Given the description of an element on the screen output the (x, y) to click on. 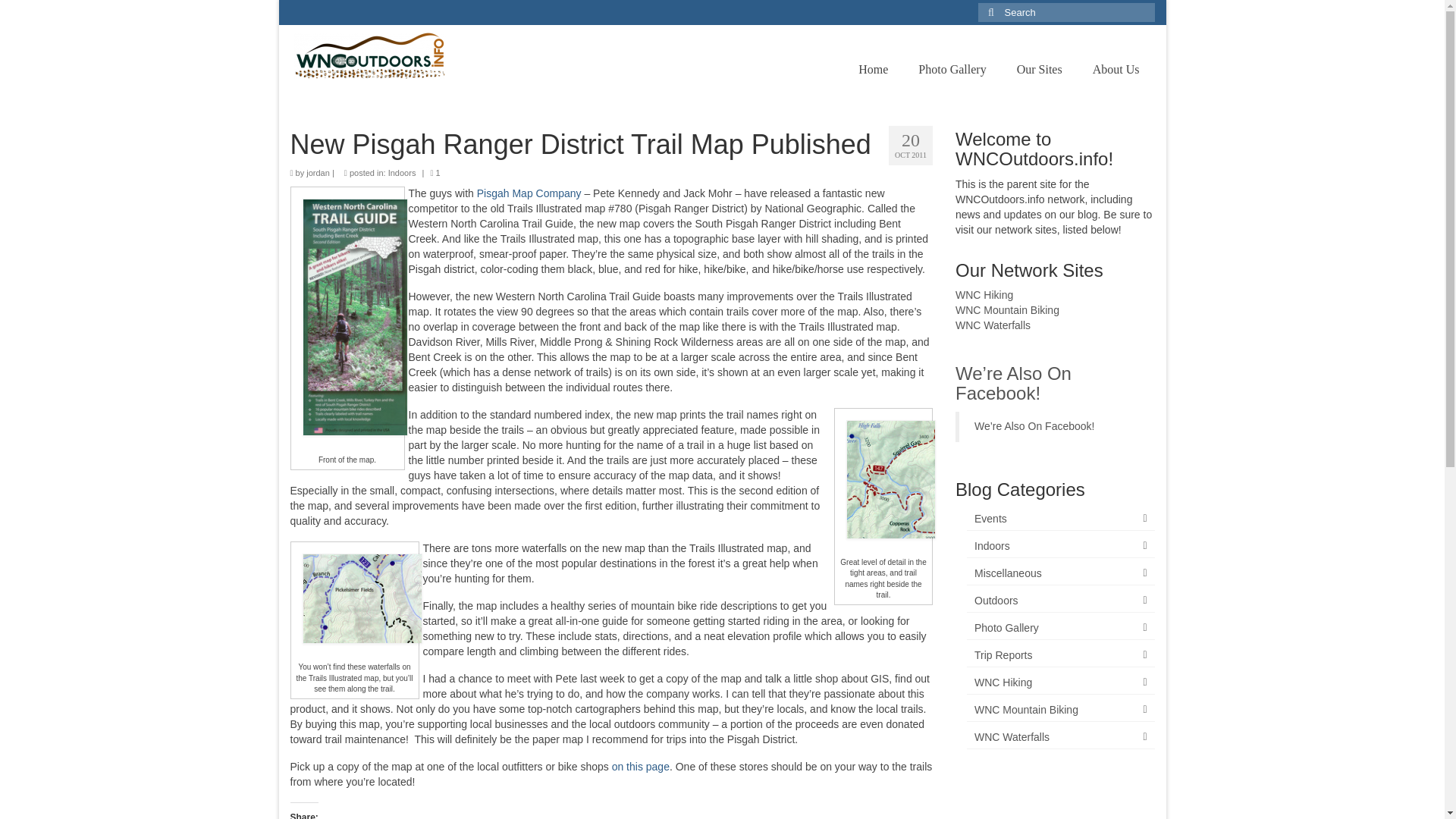
Pisgah Map Company (528, 193)
Purchasing Information (640, 766)
About Us (1115, 69)
Home (872, 69)
Indoors (402, 172)
on this page (640, 766)
WNC Hiking (984, 295)
WNC Mountain Biking (1007, 309)
Pisgah Map Company (528, 193)
Photo Gallery (951, 69)
